Given the description of an element on the screen output the (x, y) to click on. 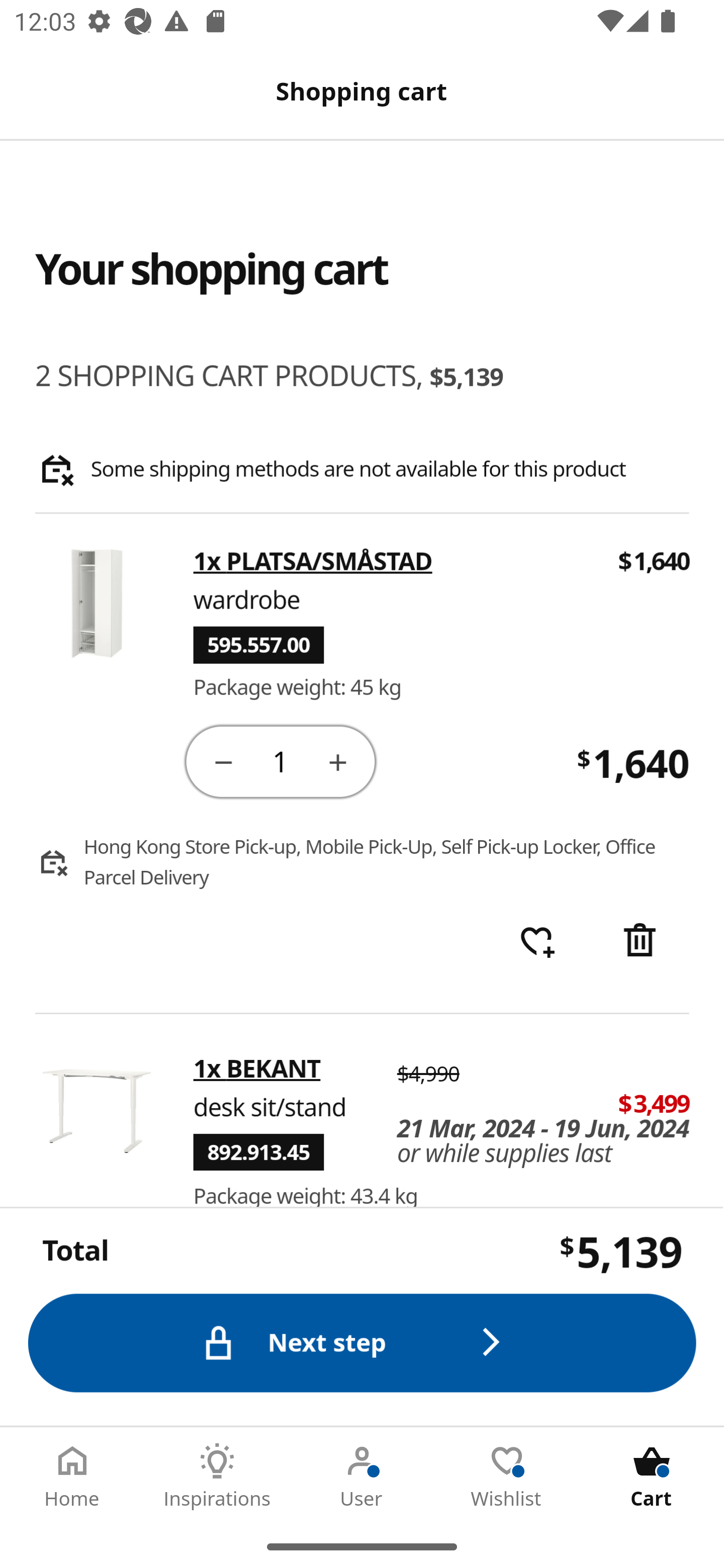
1x  PLATSA/SMÅSTAD 1x  PLATSA/SMÅSTAD (313, 561)
1 (281, 760)
 (223, 761)
 (338, 761)
  (536, 942)
 (641, 942)
1x  BEKANT 1x  BEKANT (257, 1068)
Home
Tab 1 of 5 (72, 1476)
Inspirations
Tab 2 of 5 (216, 1476)
User
Tab 3 of 5 (361, 1476)
Wishlist
Tab 4 of 5 (506, 1476)
Cart
Tab 5 of 5 (651, 1476)
